Given the description of an element on the screen output the (x, y) to click on. 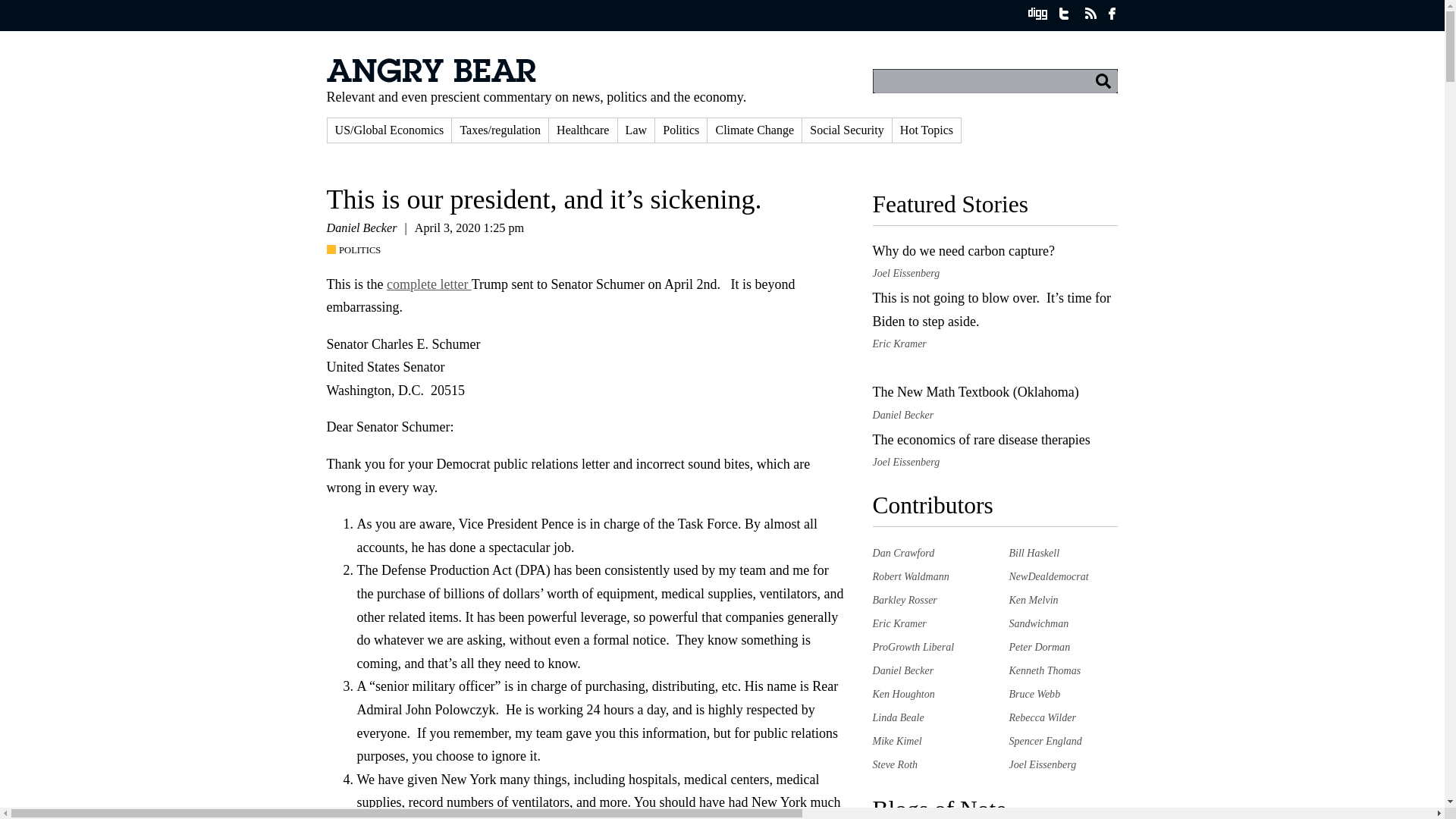
Hot Topics (926, 129)
POLITICS (357, 250)
Social Security (846, 129)
complete letter (429, 283)
Healthcare (582, 129)
Politics (680, 129)
Law (636, 129)
Climate Change (754, 129)
